Given the description of an element on the screen output the (x, y) to click on. 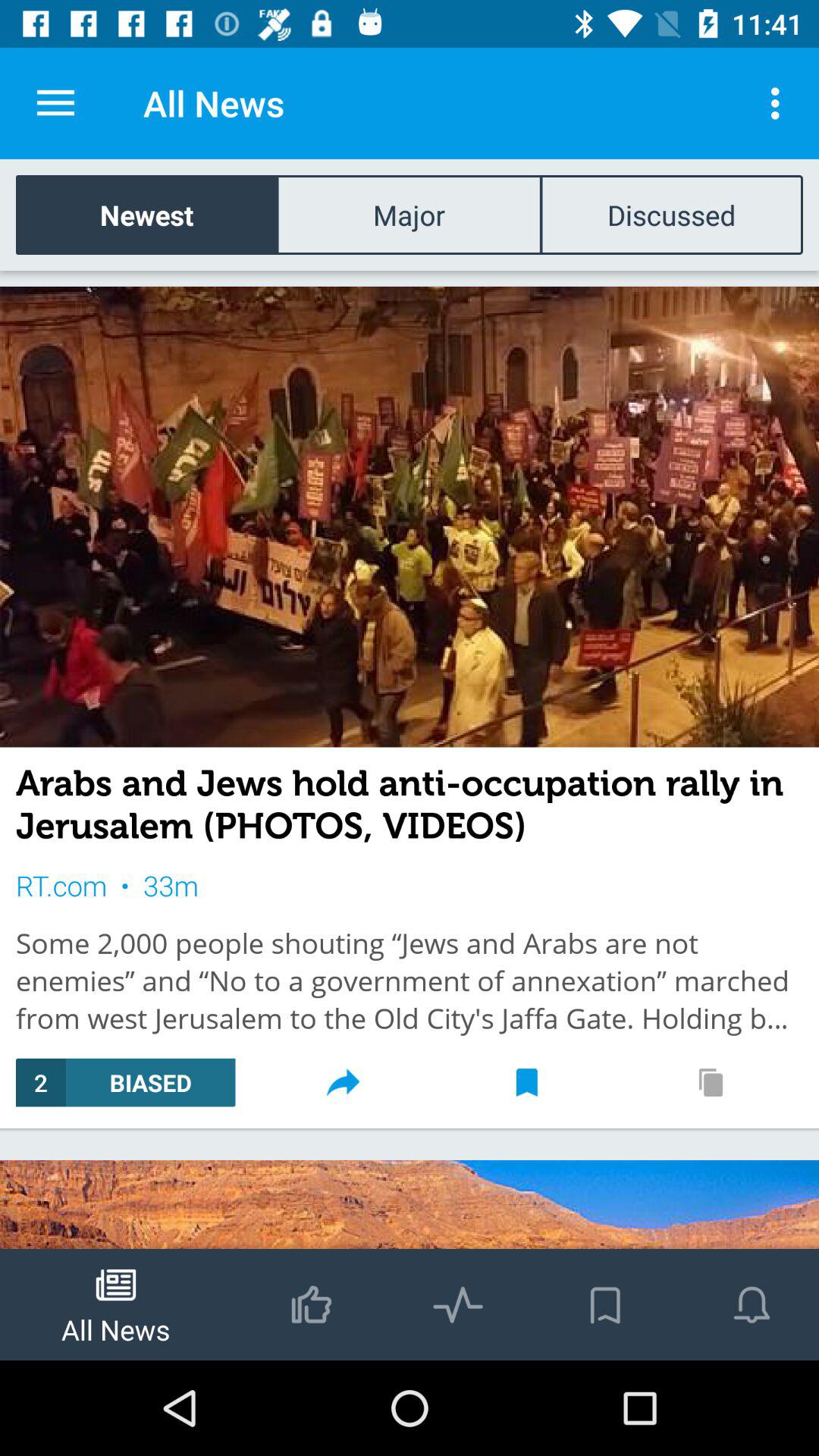
press icon to the left of the discussed (409, 214)
